Given the description of an element on the screen output the (x, y) to click on. 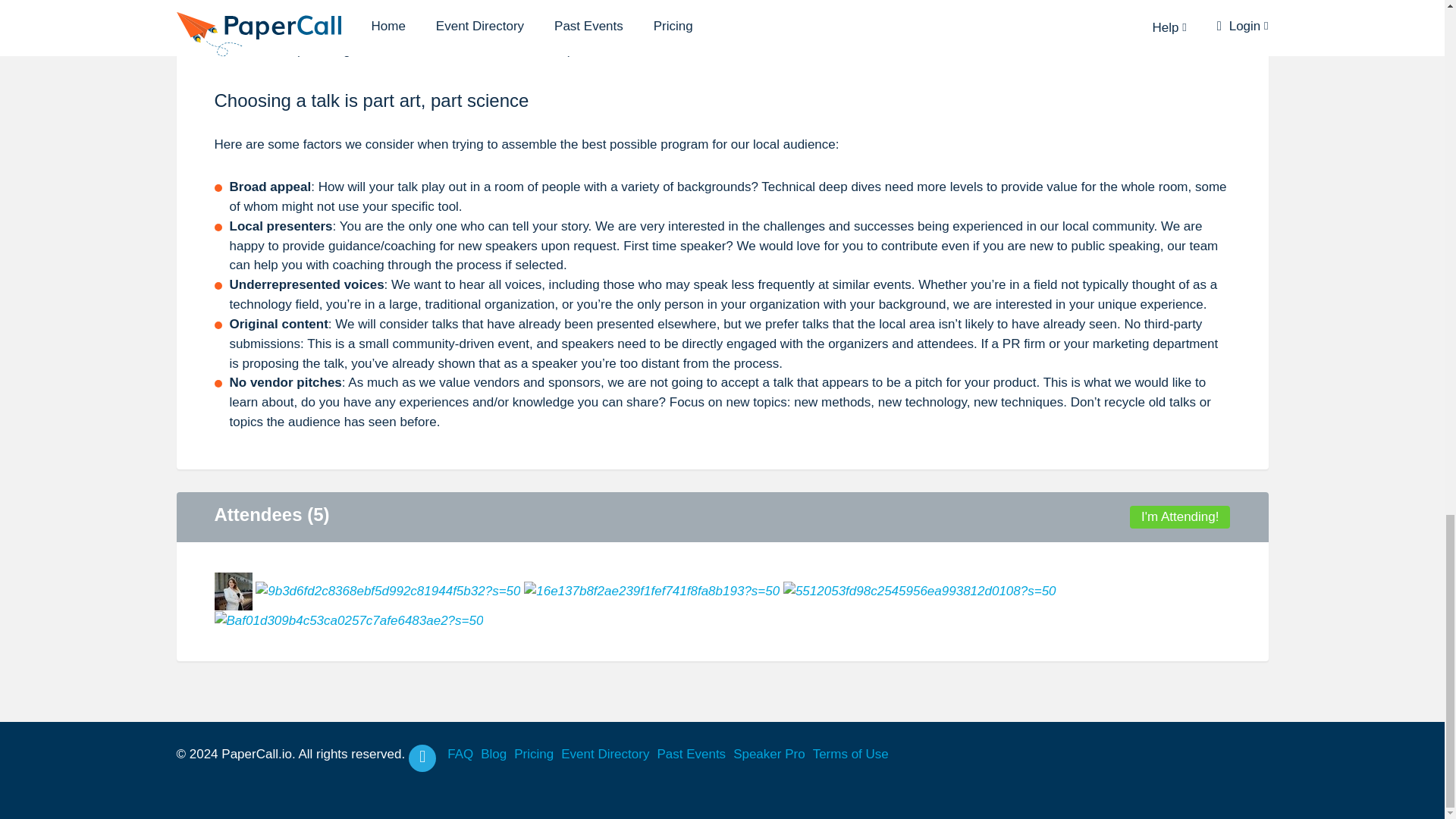
I'm Attending! (1179, 517)
